Given the description of an element on the screen output the (x, y) to click on. 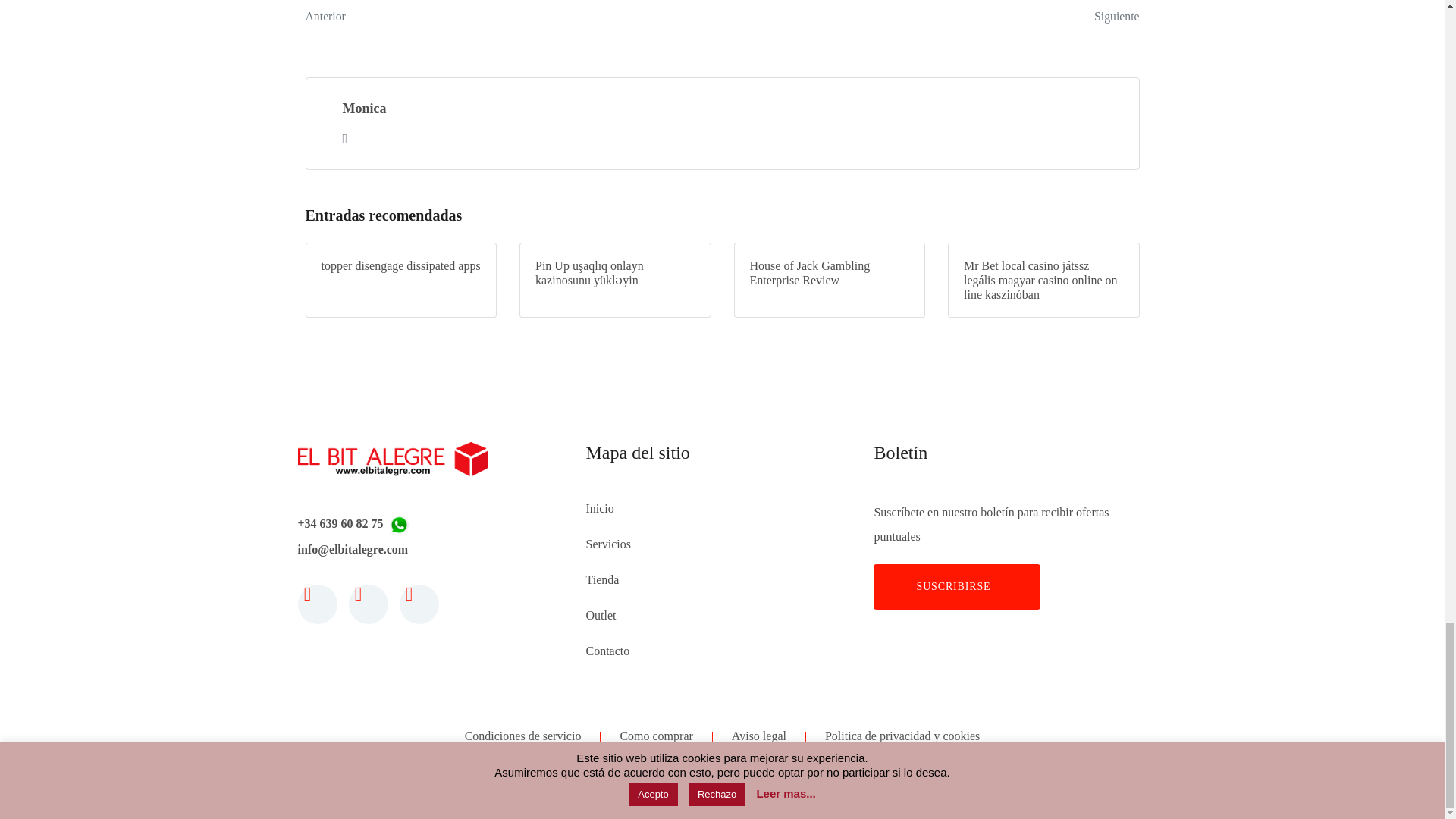
Monica (508, 14)
Finest Online casino Bonuses and you will Coupons (364, 108)
Cellular Local casino Free Money No-deposit (936, 14)
